Given the description of an element on the screen output the (x, y) to click on. 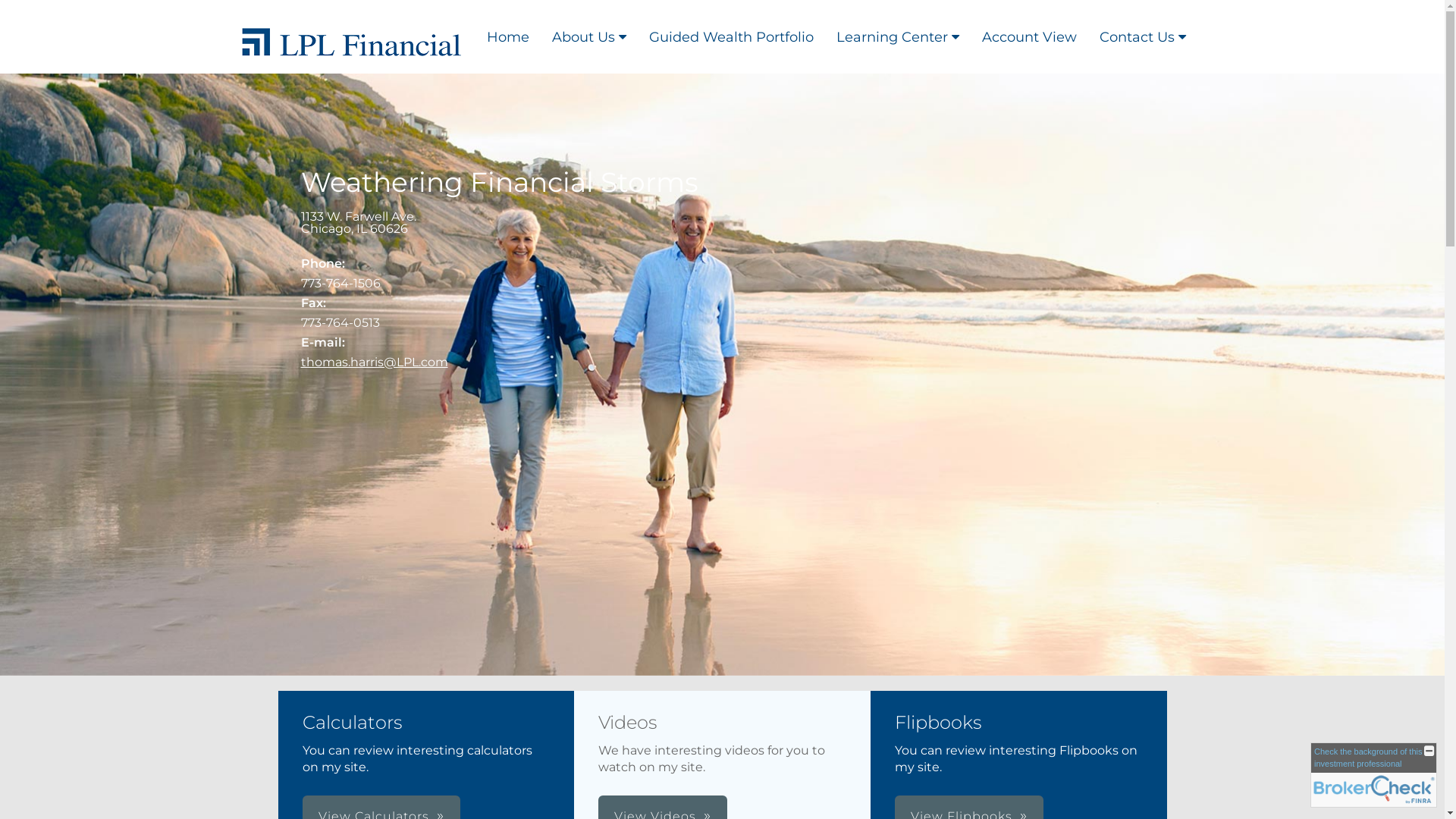
Check the background of this investment professional Element type: text (1373, 774)
About Us Element type: text (588, 36)
Learning Center Element type: text (897, 36)
Home Element type: text (506, 36)
Guided Wealth Portfolio Element type: text (730, 36)
thomas.harris@LPL.com Element type: text (373, 361)
Contact Us Element type: text (1141, 36)
Account View Element type: text (1029, 36)
Check the background of this investment professional Element type: text (1367, 756)
